Given the description of an element on the screen output the (x, y) to click on. 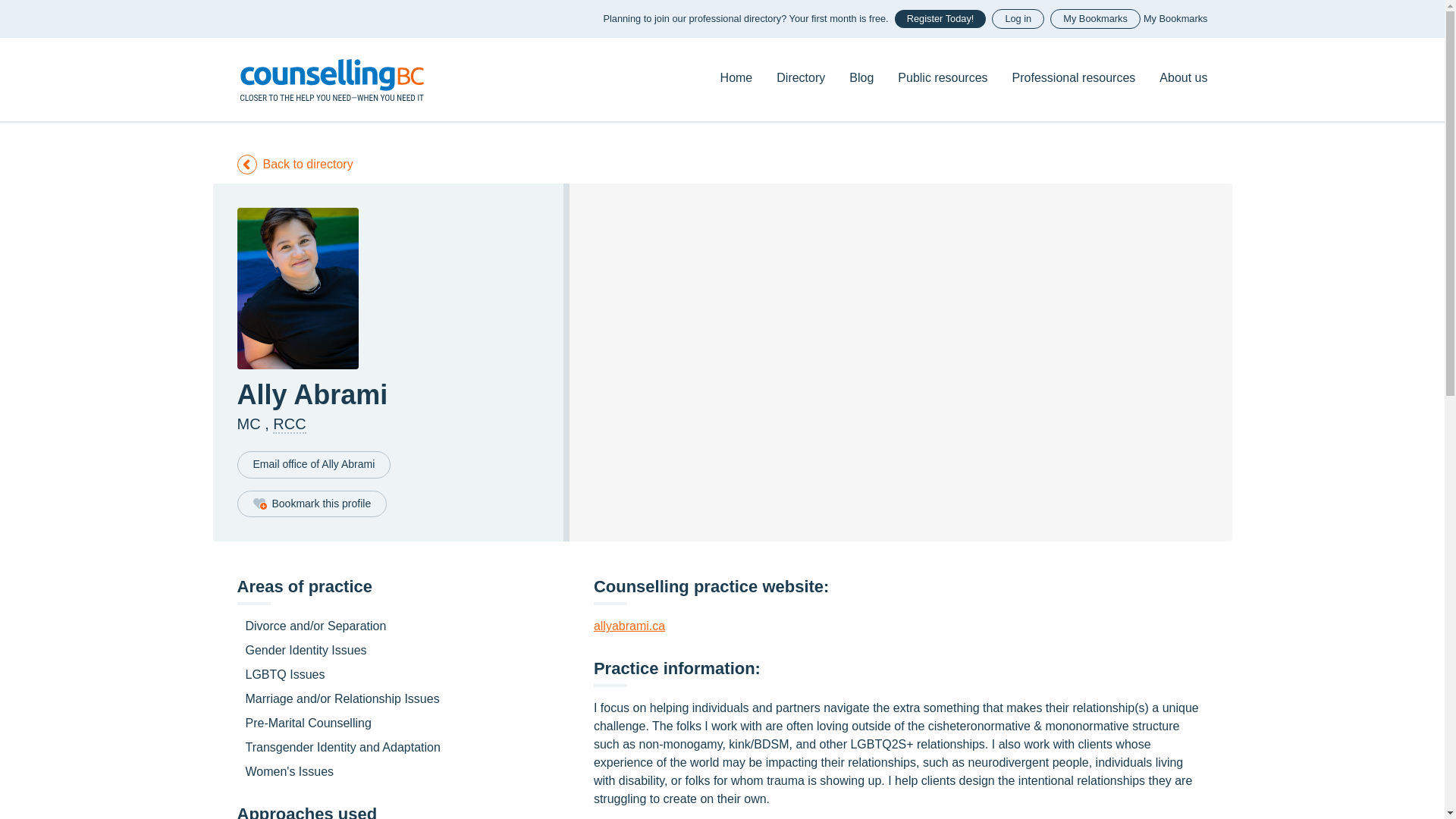
allyabrami.ca (629, 625)
Counselling BC (330, 79)
Back to directory (293, 164)
Professional resources (1073, 77)
Bookmark this profile (311, 503)
Home (330, 79)
Directory (800, 77)
